Given the description of an element on the screen output the (x, y) to click on. 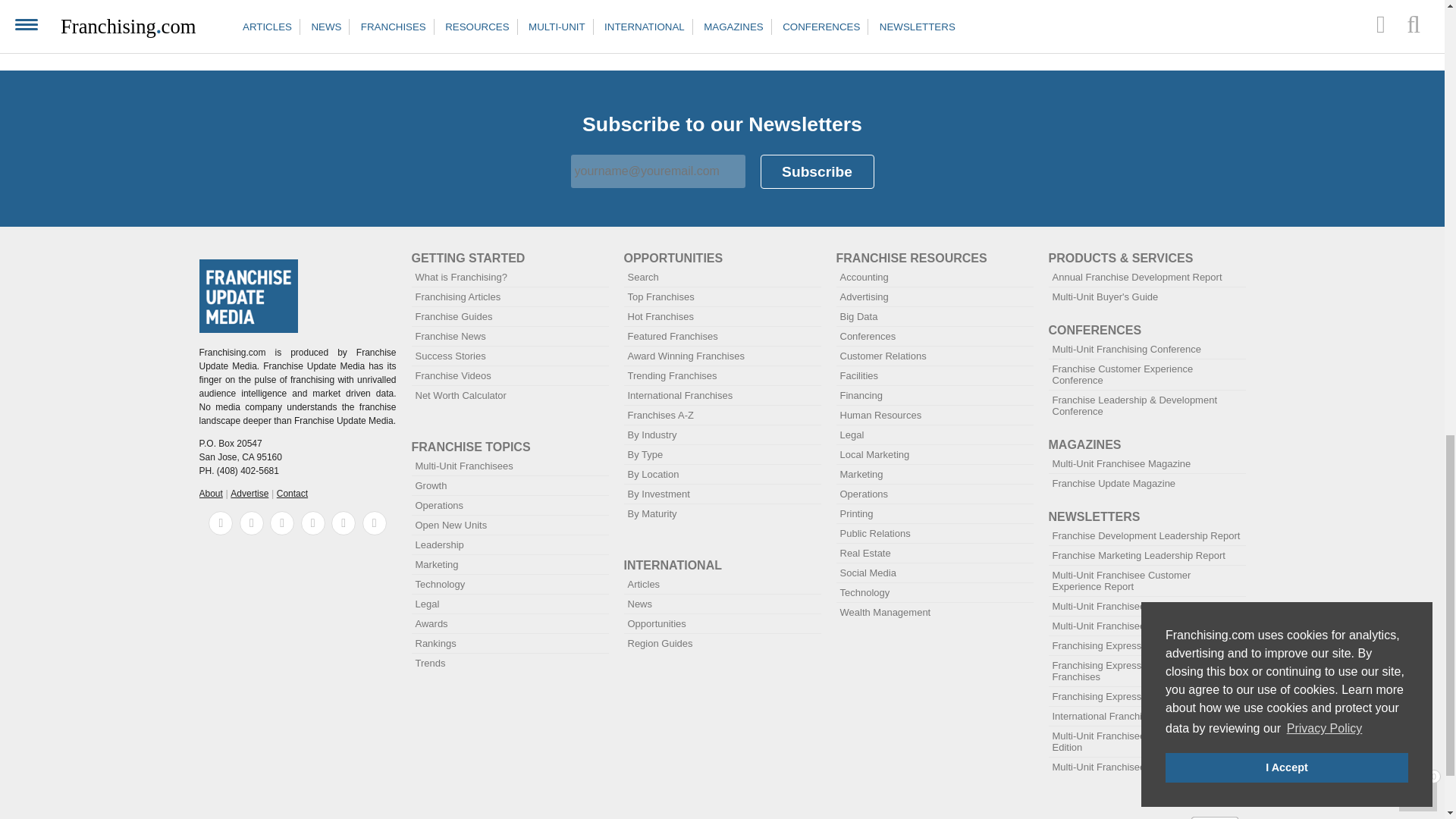
Subscribe (816, 171)
